Given the description of an element on the screen output the (x, y) to click on. 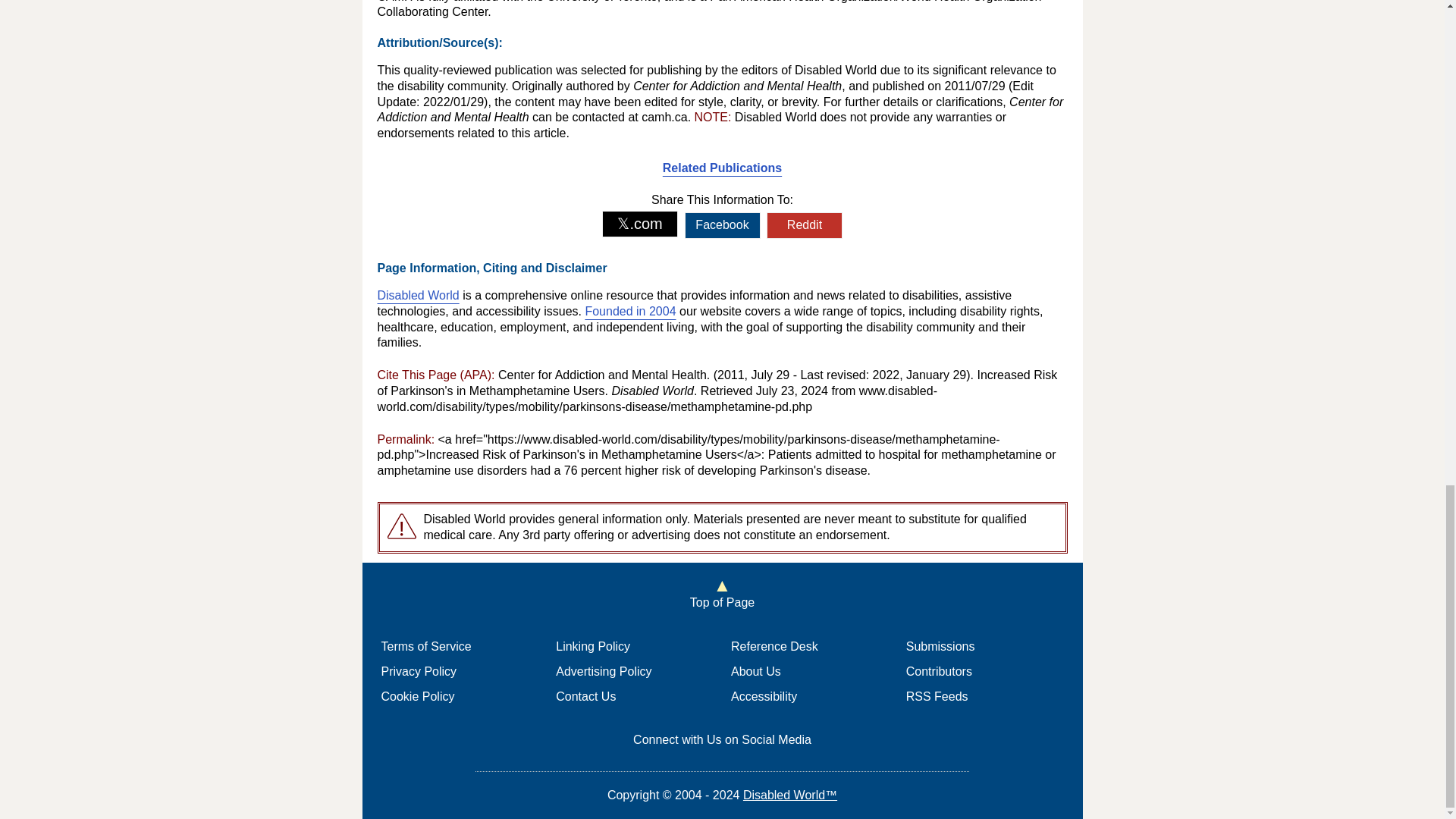
Disabled World (418, 295)
Linking Policy (593, 645)
Advertising Policy (603, 671)
Share on X (640, 223)
Terms of Service (425, 645)
Founded in 2004 (630, 310)
Privacy Policy (418, 671)
Contact Us (585, 696)
Cookie Policy (417, 696)
